Given the description of an element on the screen output the (x, y) to click on. 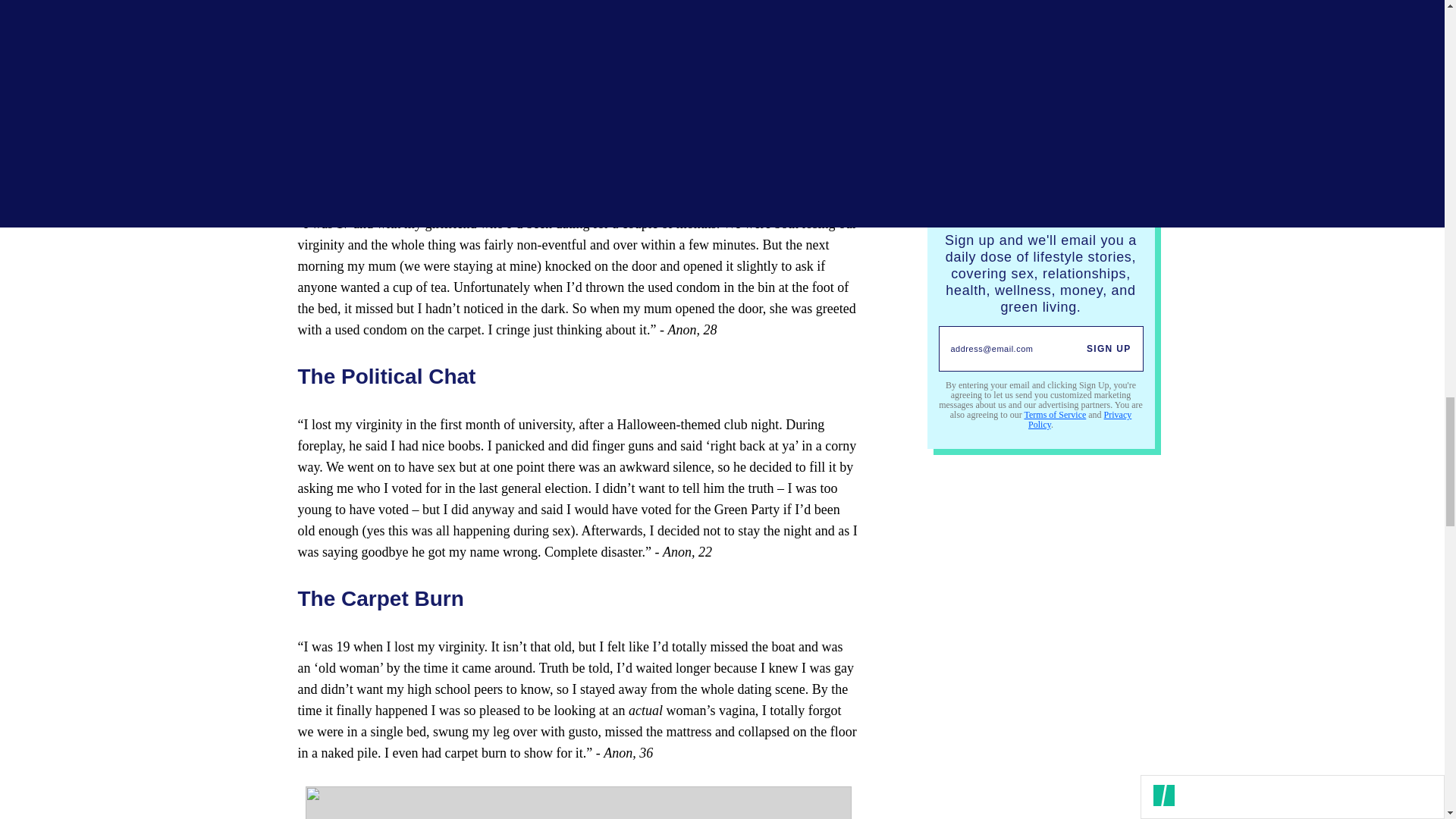
SIGN UP (1108, 348)
